Given the description of an element on the screen output the (x, y) to click on. 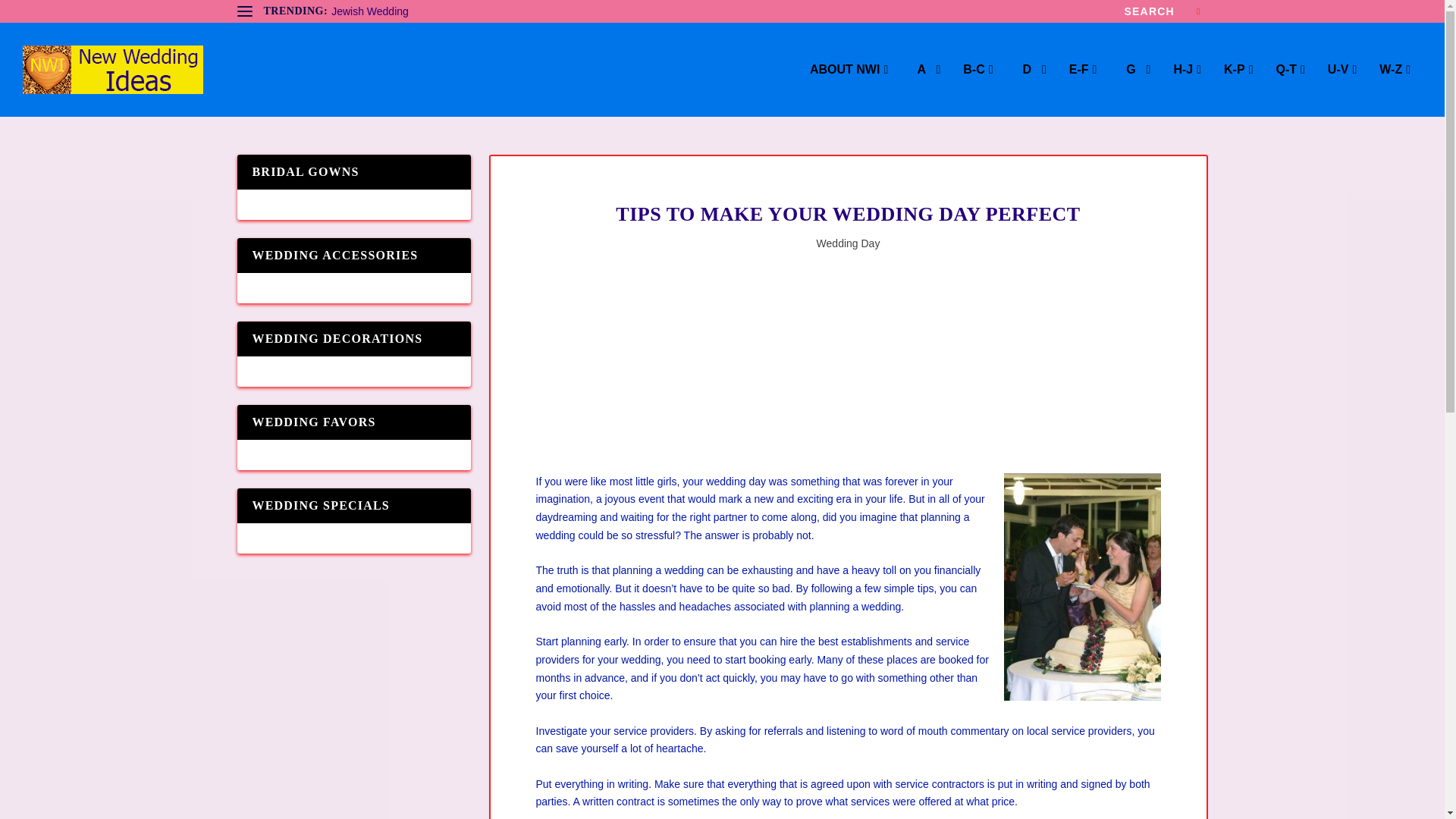
Advertisement (847, 374)
ABOUT NWI (848, 90)
Jewish Wedding (370, 10)
Search for: (1161, 11)
